Given the description of an element on the screen output the (x, y) to click on. 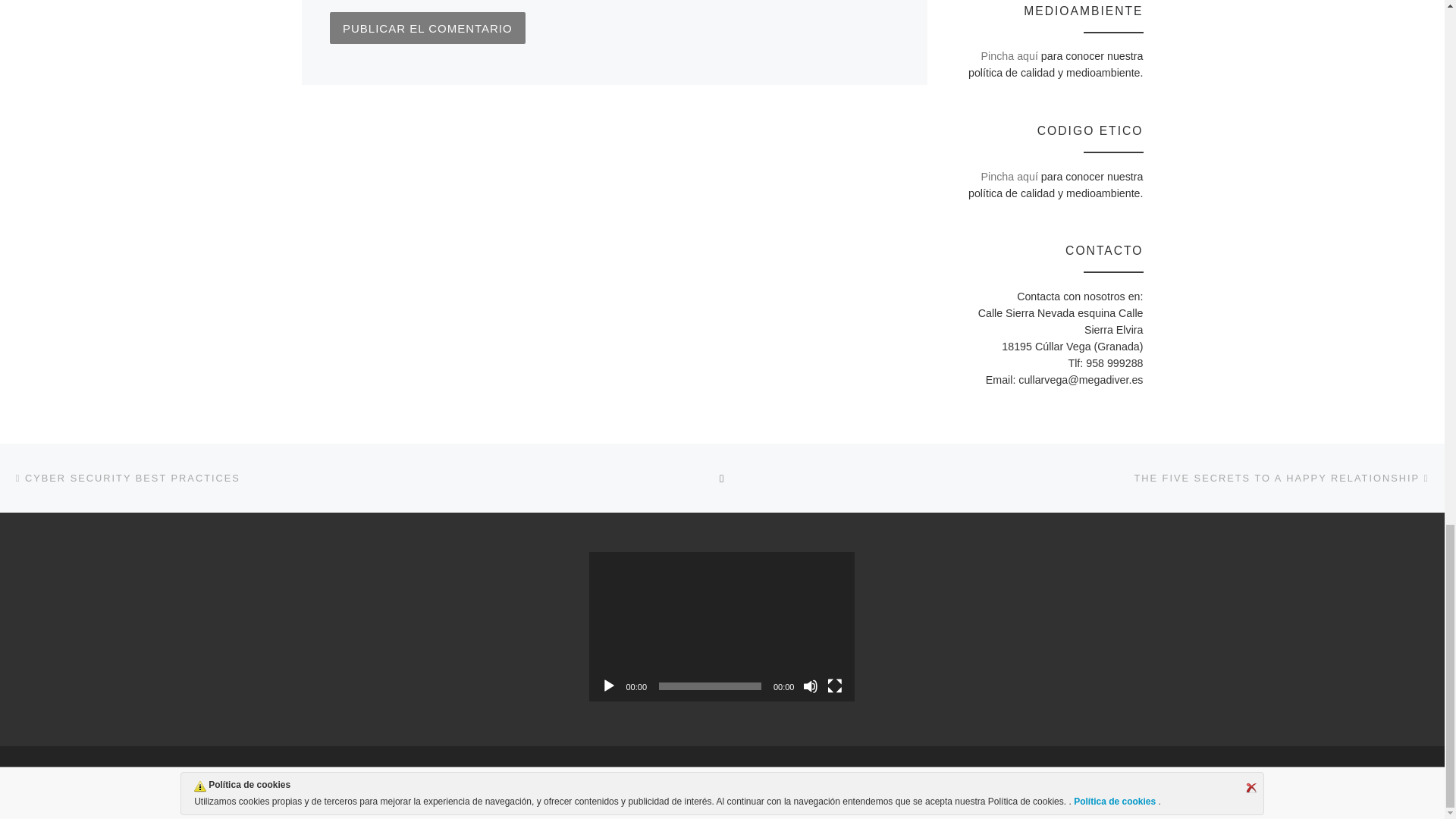
Reproducir (608, 685)
Publicar el comentario (427, 28)
Silenciar (810, 685)
